Given the description of an element on the screen output the (x, y) to click on. 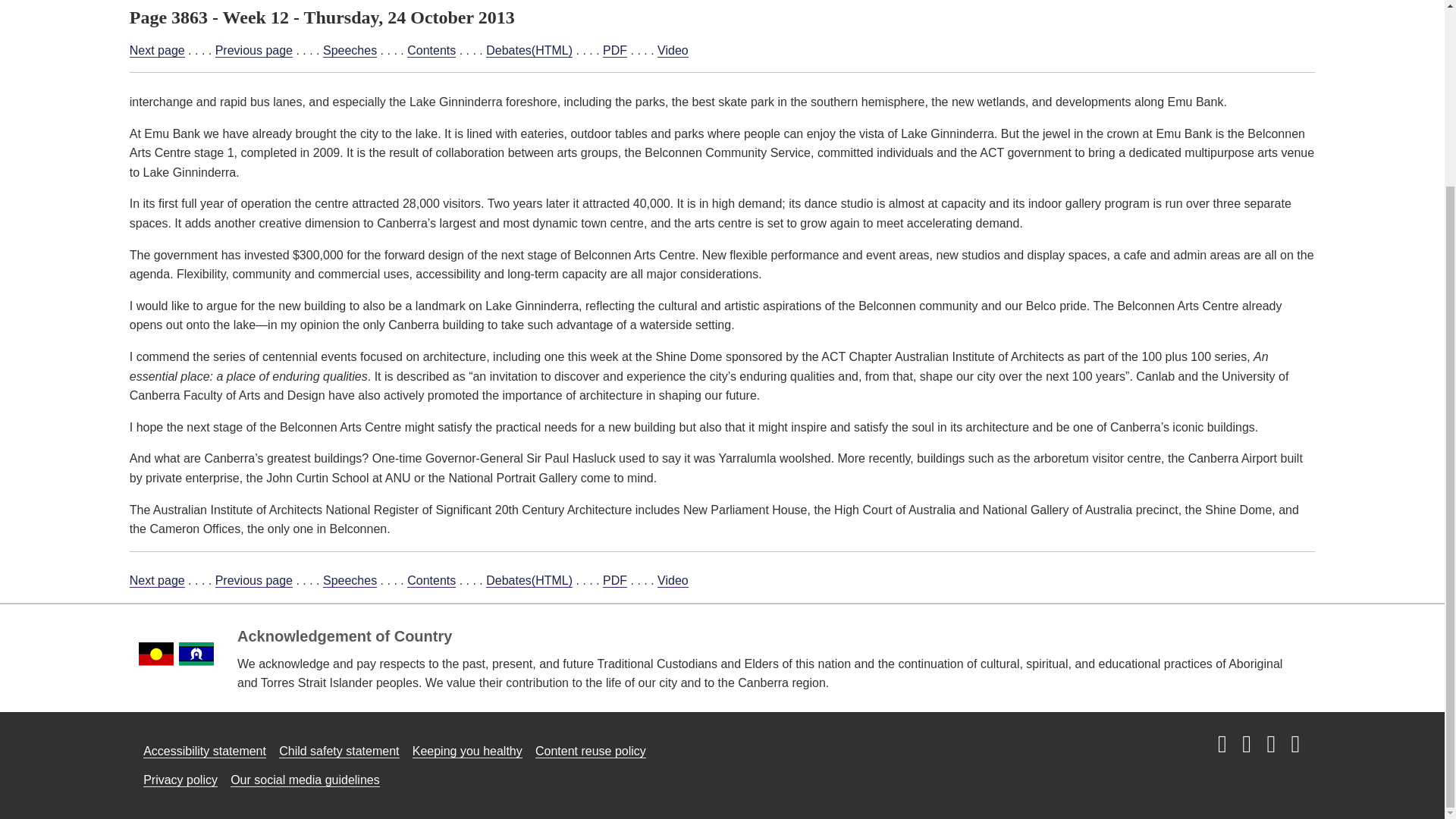
PDF (614, 581)
Next page (156, 581)
Previous page (253, 50)
Read about how we're keeping our Assembly healthy (467, 751)
Contents (431, 50)
Read our privacy policy (179, 780)
Speeches (350, 50)
Contents (431, 581)
Read our social media guidelines (305, 780)
Next page (156, 50)
